Given the description of an element on the screen output the (x, y) to click on. 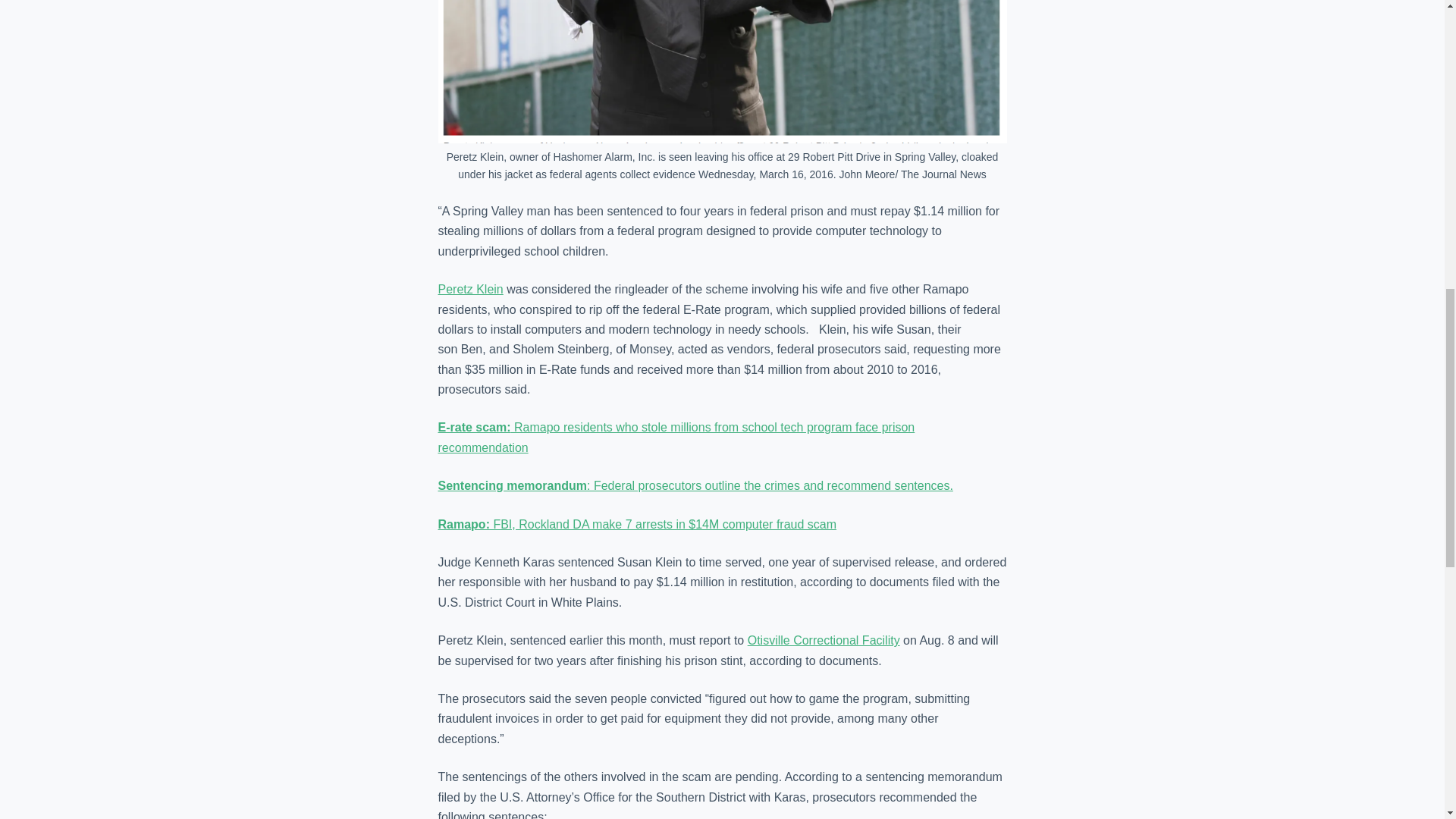
Otisville Correctional Facility (823, 640)
Peretz Klein (470, 288)
